Given the description of an element on the screen output the (x, y) to click on. 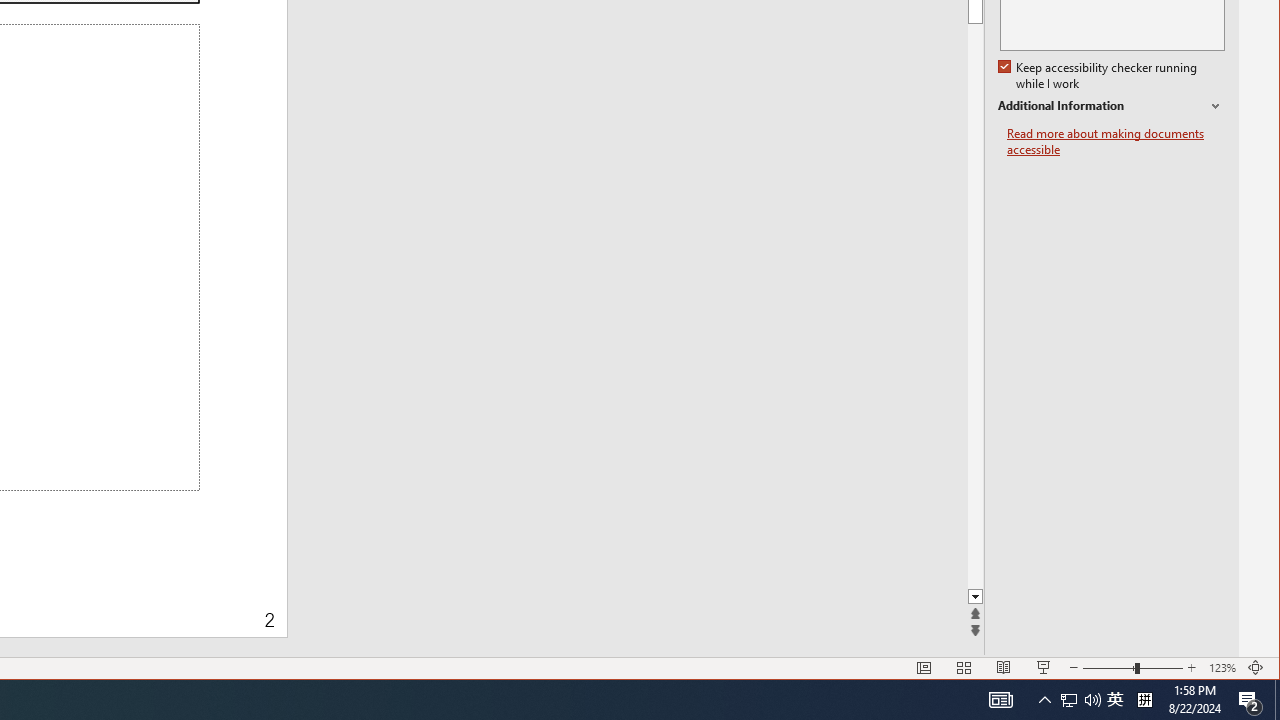
Additional Information (1111, 106)
User Promoted Notification Area (1069, 699)
Action Center, 2 new notifications (1080, 699)
